Given the description of an element on the screen output the (x, y) to click on. 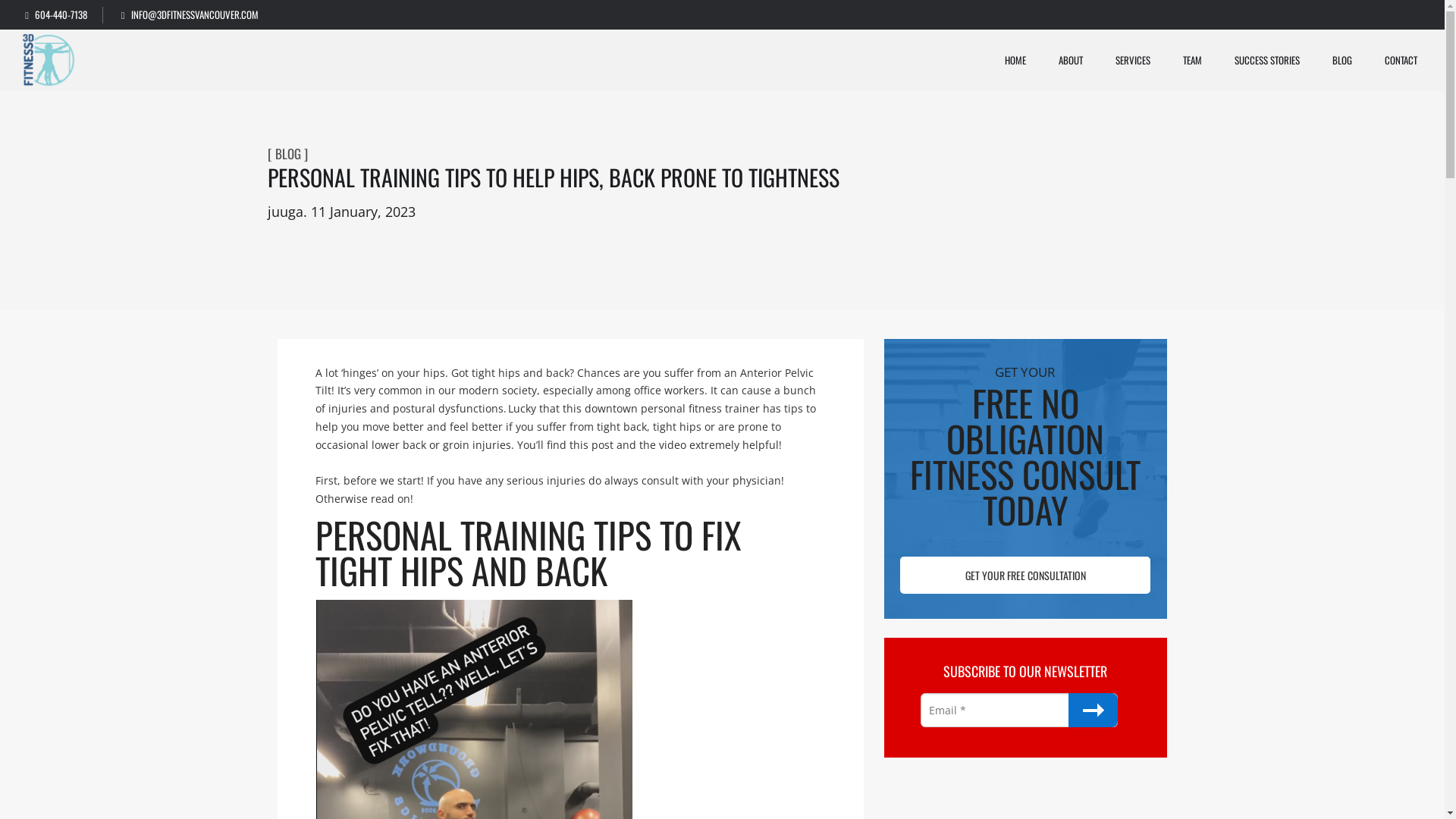
CONTACT Element type: text (1411, 60)
HOME Element type: text (1026, 60)
INFO@3DFITNESSVANCOUVER.COM Element type: text (190, 14)
Submit Element type: text (1092, 710)
GET YOUR FREE CONSULTATION Element type: text (1025, 574)
ABOUT Element type: text (1081, 60)
BLOG Element type: text (290, 153)
604-440-7138 Element type: text (64, 14)
SERVICES Element type: text (1143, 60)
SUCCESS STORIES Element type: text (1278, 60)
BLOG Element type: text (1353, 60)
TEAM Element type: text (1203, 60)
